Given the description of an element on the screen output the (x, y) to click on. 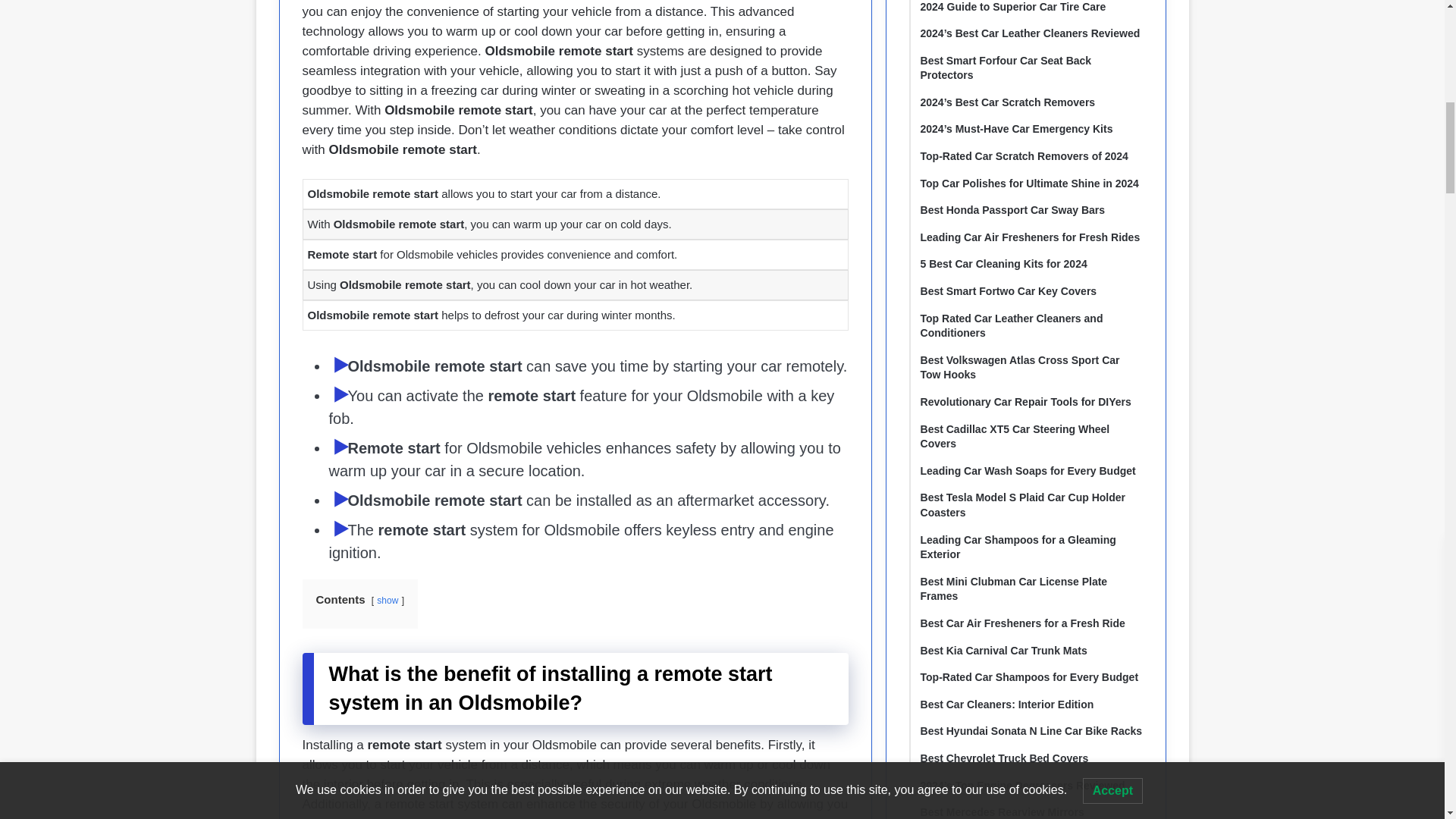
show (387, 600)
